Given the description of an element on the screen output the (x, y) to click on. 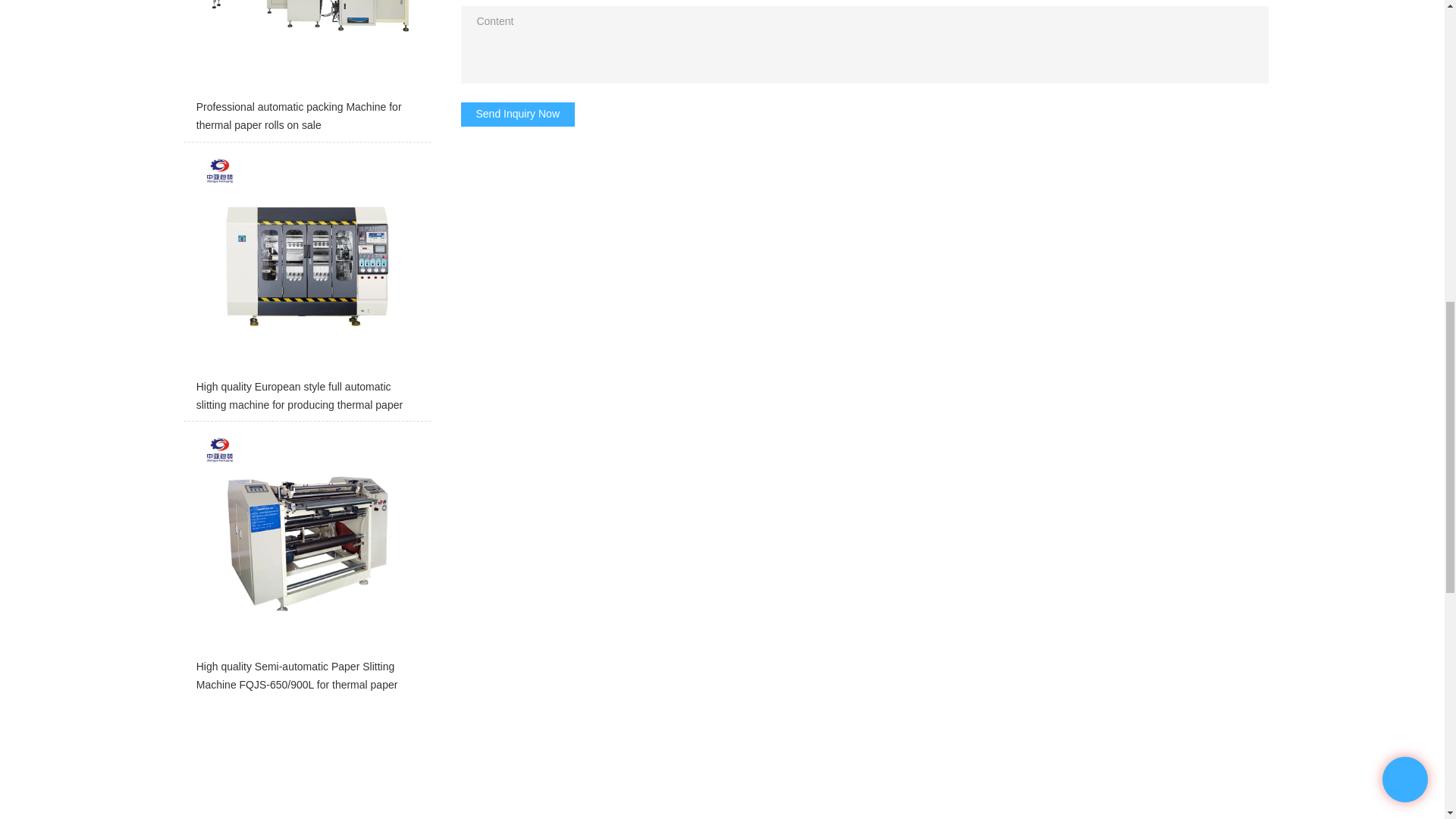
Send Inquiry Now (518, 114)
